Given the description of an element on the screen output the (x, y) to click on. 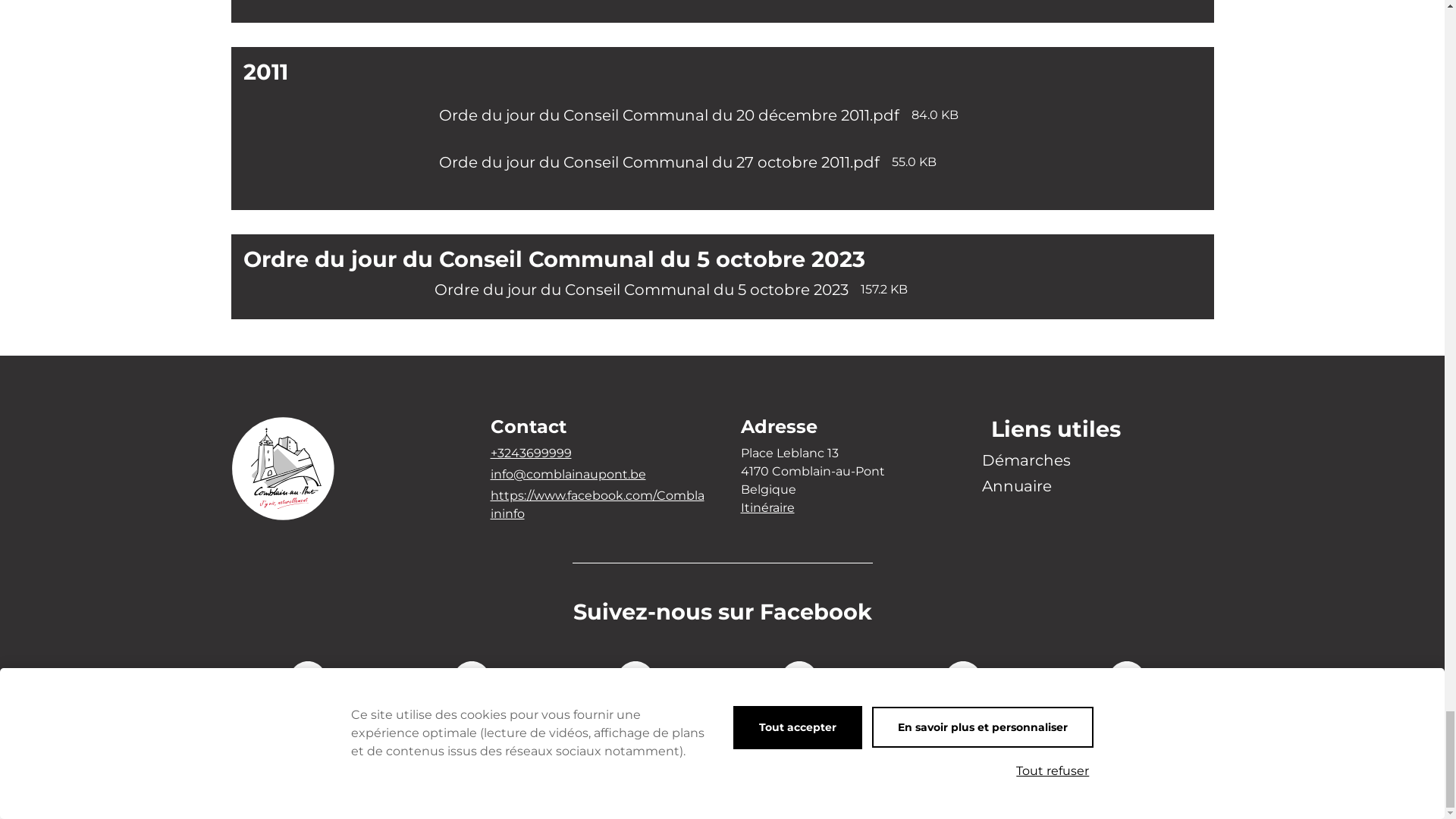
Rechercher Element type: text (1195, 41)
CONSEIL COMMUNAL Element type: text (356, 221)
Cacher ce message Element type: hover (1200, 97)
Ordre du jour du Conseil Communal du 5 octobre 2023
157.2 KB Element type: text (721, 514)
Publications Element type: text (822, 222)
Publications Element type: text (674, 286)
Vie politique Element type: text (452, 286)
Je suis Element type: text (1049, 41)
Ma commune Element type: text (743, 41)
Je trouve Element type: text (1132, 41)
Accueil Element type: text (273, 286)
Loisirs Element type: text (975, 41)
info@comblainaupont.be Element type: text (764, 141)
Conseil communal Element type: text (563, 286)
Ma commune Element type: text (355, 286)
